Given the description of an element on the screen output the (x, y) to click on. 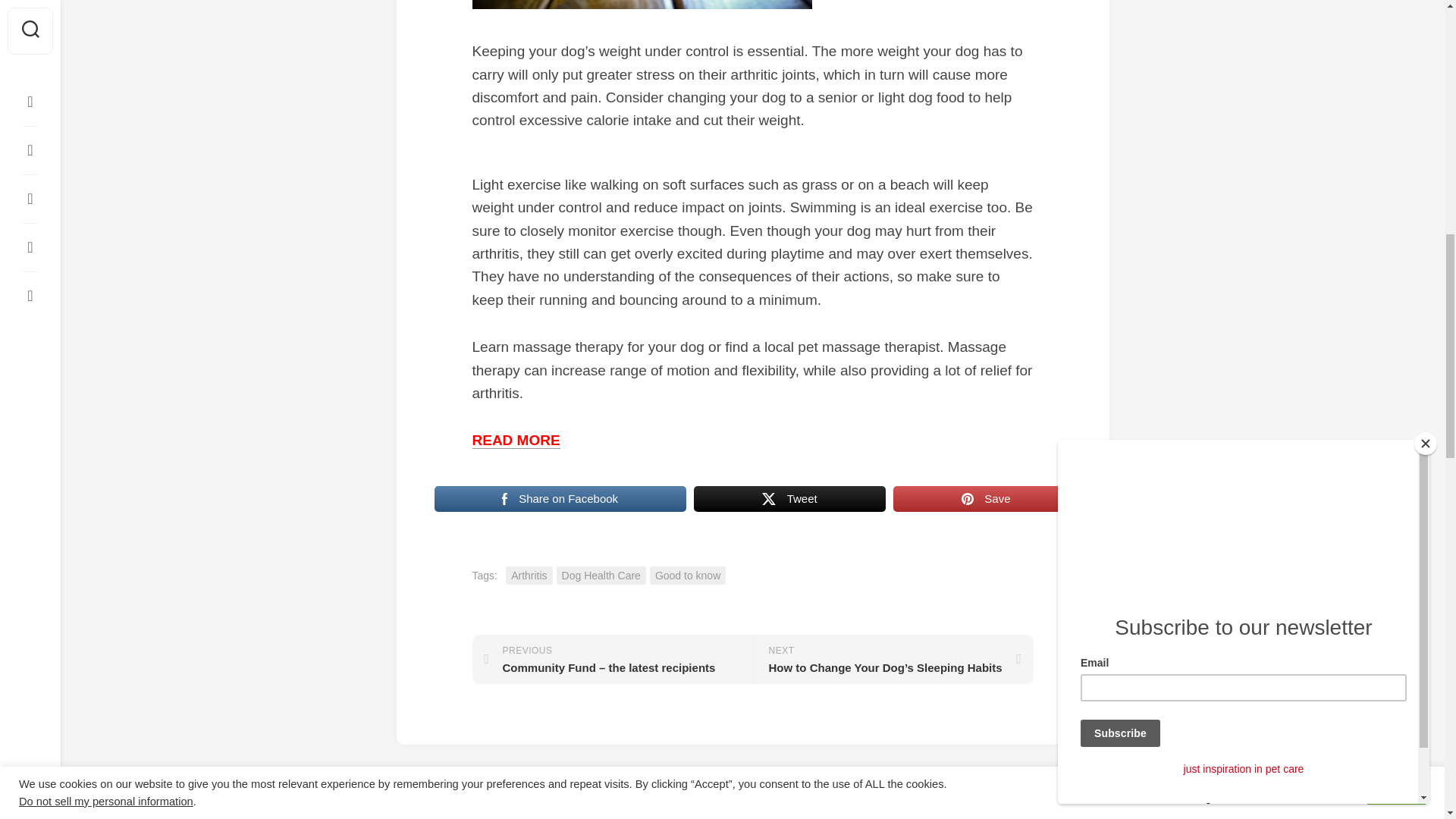
Share on Facebook (559, 498)
Good to know (687, 575)
Tweet (789, 498)
READ MORE (515, 439)
Save (985, 498)
Dog Health Care (601, 575)
Arthritis (528, 575)
